Given the description of an element on the screen output the (x, y) to click on. 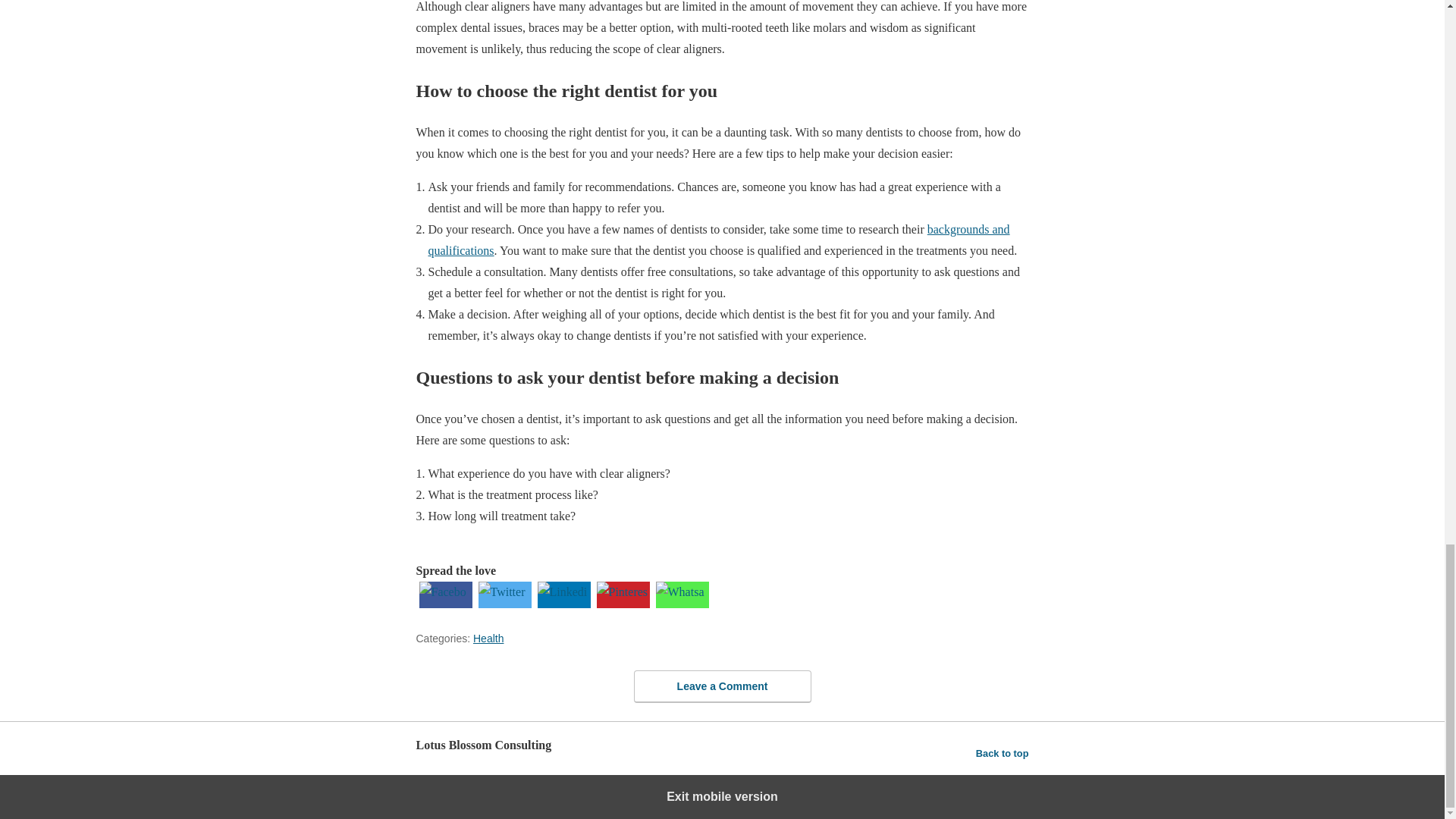
Pinterest (622, 603)
Linkedin (563, 603)
Health (488, 638)
Facebook (444, 603)
Whatsapp (681, 603)
Back to top (1002, 753)
backgrounds and qualifications (718, 239)
Leave a Comment (721, 686)
Twitter (504, 603)
